Given the description of an element on the screen output the (x, y) to click on. 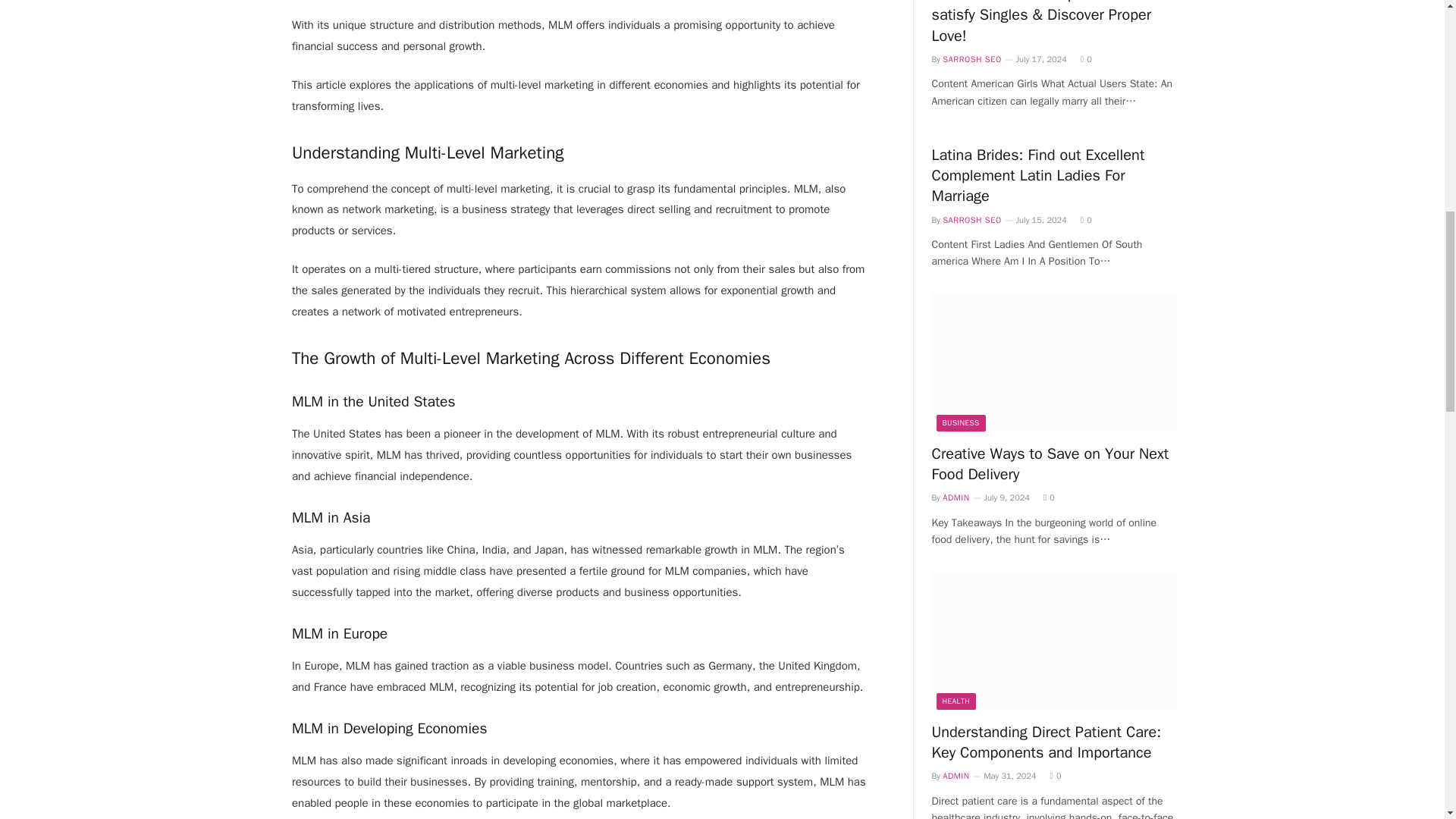
Posts by Sarrosh Seo (971, 59)
Creative Ways to Save on Your Next Food Delivery (1053, 362)
Posts by Sarrosh Seo (971, 219)
Posts by admin (955, 775)
Posts by admin (955, 497)
